Given the description of an element on the screen output the (x, y) to click on. 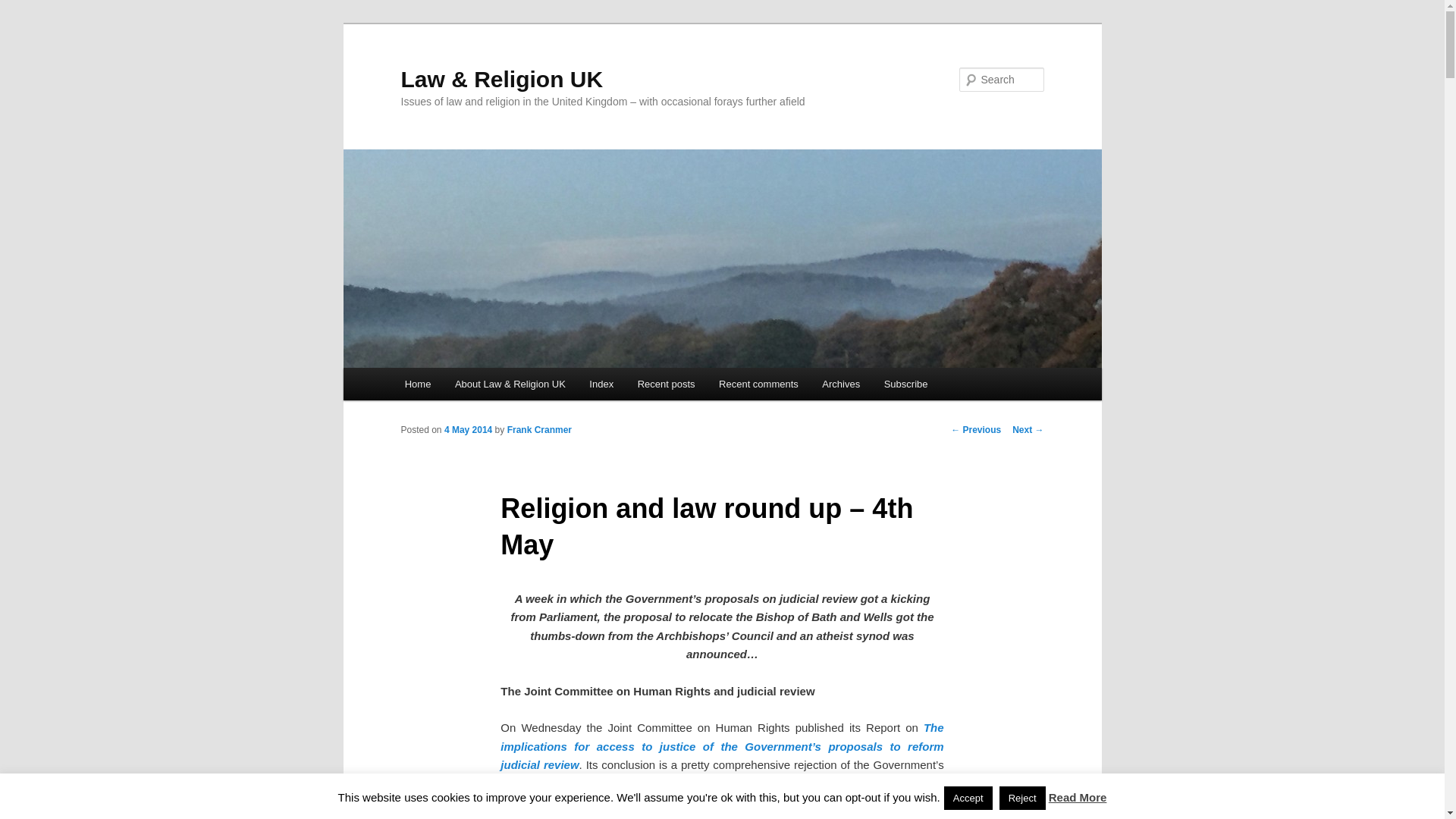
Frank Cranmer (539, 429)
Subscribe (905, 383)
4 May 2014 (468, 429)
Search (24, 8)
Recent comments (757, 383)
Recent posts (666, 383)
Index (602, 383)
Home (417, 383)
Archives (841, 383)
